Given the description of an element on the screen output the (x, y) to click on. 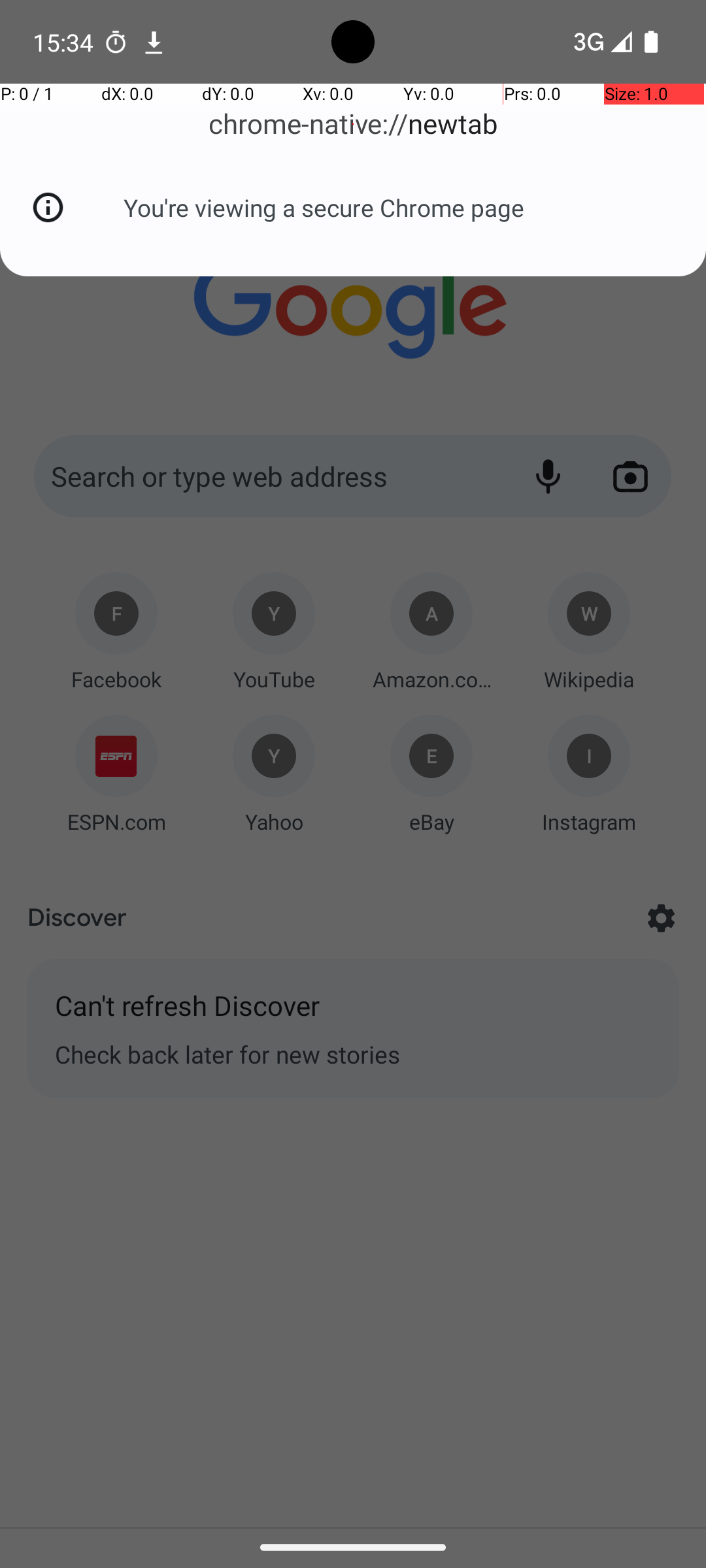
You're viewing a secure Chrome page Element type: android.widget.TextView (323, 207)
chrome-native://newtab Element type: android.widget.TextView (352, 124)
Chrome notification: m.youtube.com Element type: android.widget.ImageView (153, 41)
